Given the description of an element on the screen output the (x, y) to click on. 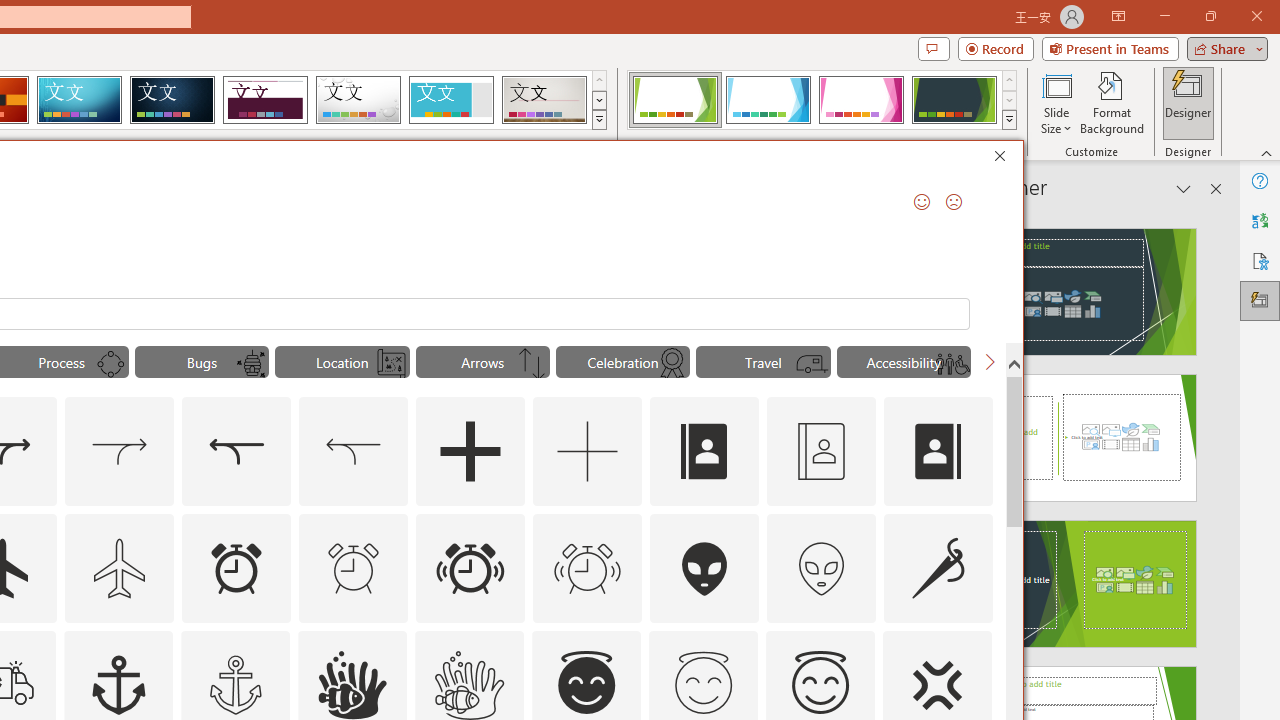
AutomationID: Icons_Add_M (587, 452)
AutomationID: Icons_AlarmClock_M (353, 568)
AutomationID: Icons_AlterationsTailoring (938, 568)
Themes (598, 120)
"Travel" Icons. (763, 362)
AutomationID: Icons_Sort_M (532, 364)
AutomationID: Icons_BeeWithHive_M (250, 364)
AutomationID: Icons_Add (470, 452)
